Given the description of an element on the screen output the (x, y) to click on. 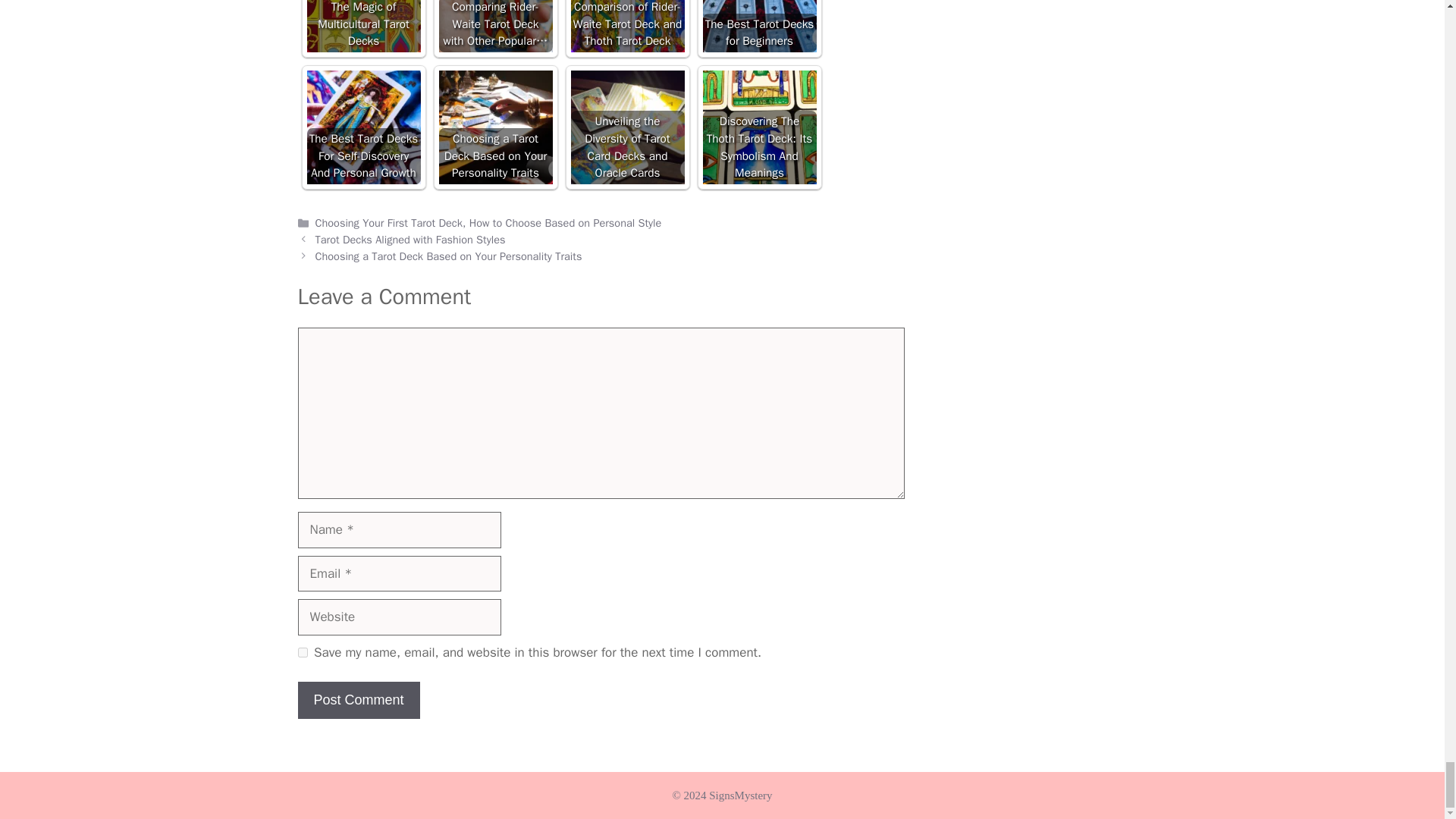
yes (302, 652)
Post Comment (358, 700)
